Given the description of an element on the screen output the (x, y) to click on. 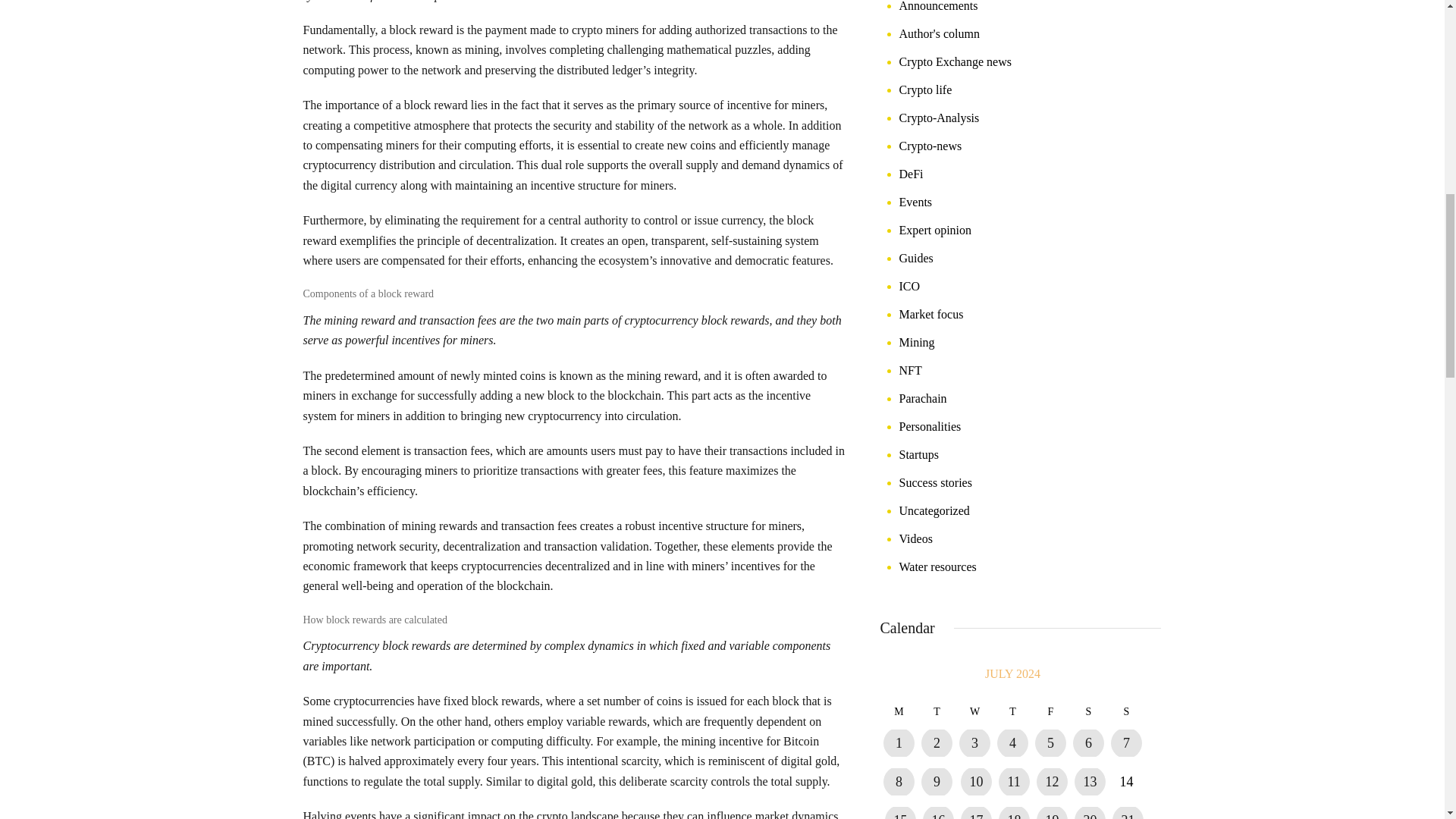
Friday (1049, 711)
Wednesday (973, 711)
Monday (898, 711)
Tuesday (936, 711)
Sunday (1125, 711)
Thursday (1011, 711)
Saturday (1087, 711)
